Given the description of an element on the screen output the (x, y) to click on. 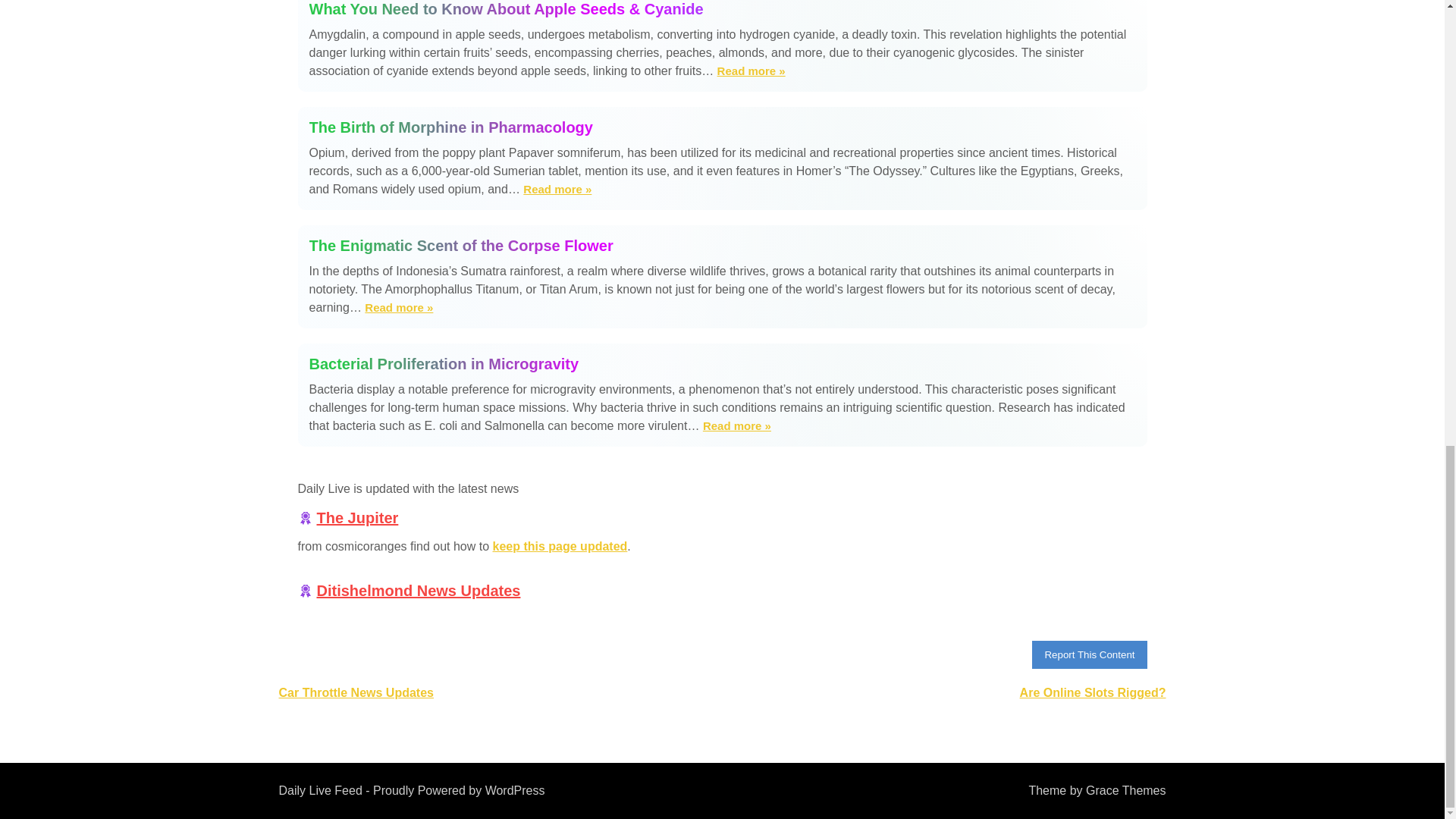
Bacterial Proliferation in Microgravity (721, 363)
The Enigmatic Scent of the Corpse Flower (721, 245)
The Jupiter (357, 517)
Ditishelmond News Updates (419, 590)
keep this page updated (560, 545)
The Birth of Morphine in Pharmacology (721, 126)
Are Online Slots Rigged? (1093, 692)
The Birth of Morphine in Pharmacology (721, 126)
Report This Content (1089, 654)
Car Throttle News Updates (356, 692)
